Given the description of an element on the screen output the (x, y) to click on. 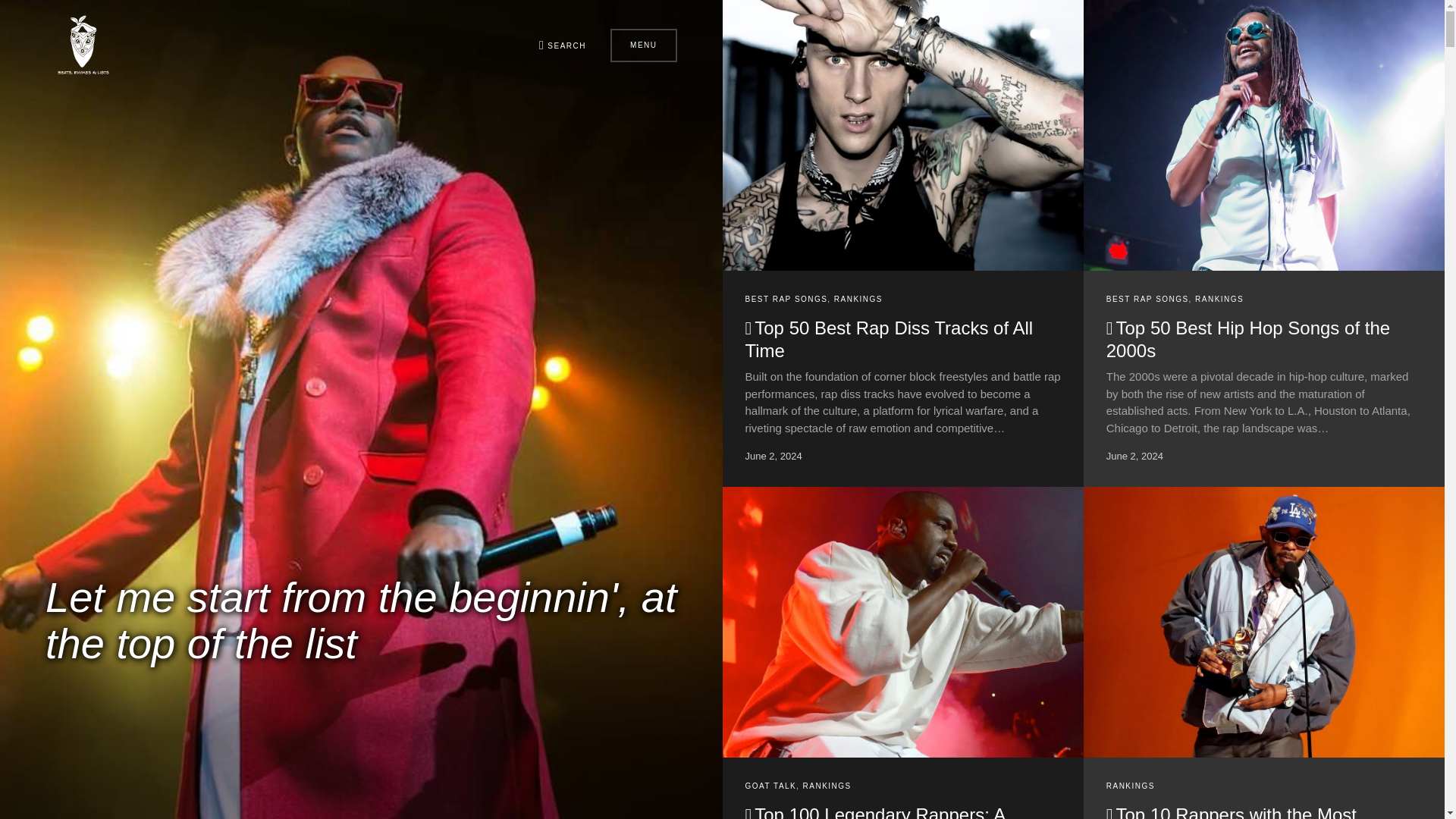
Top 50 Best Rap Diss Tracks of All Time (888, 339)
RANKINGS (858, 298)
BEST RAP SONGS (785, 298)
